Given the description of an element on the screen output the (x, y) to click on. 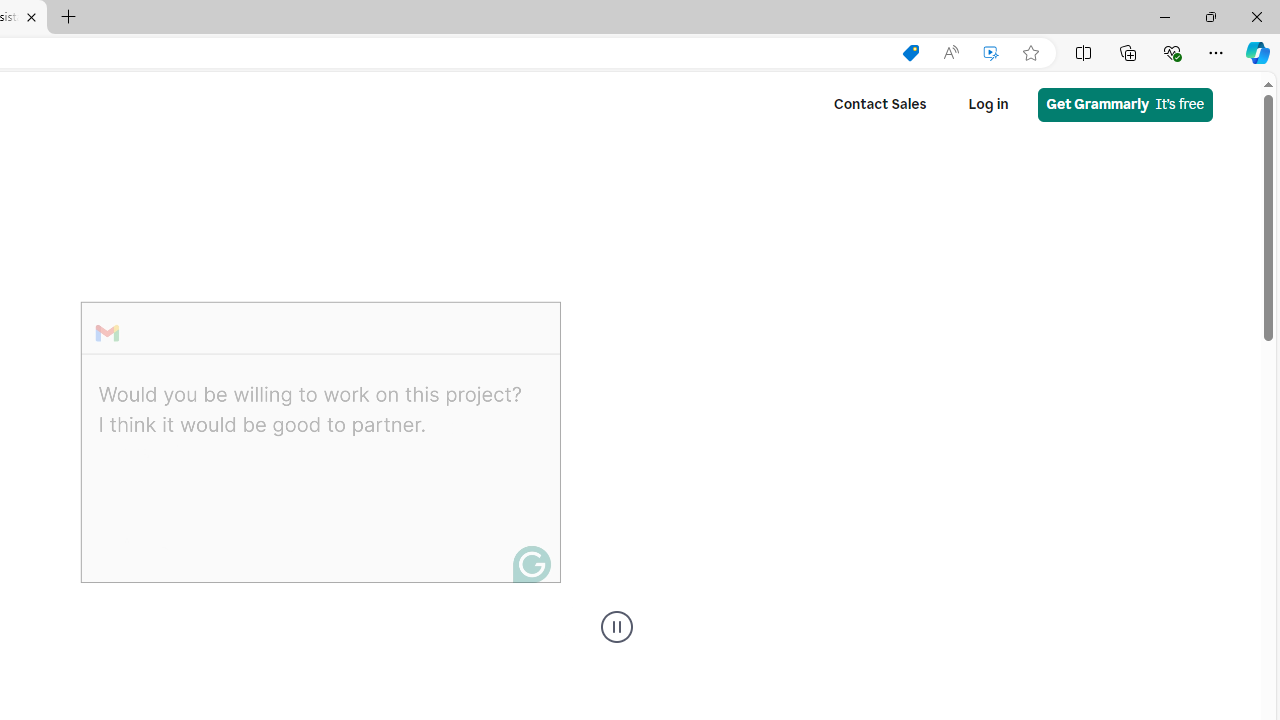
Pause animation (616, 627)
Log in (987, 103)
